Given the description of an element on the screen output the (x, y) to click on. 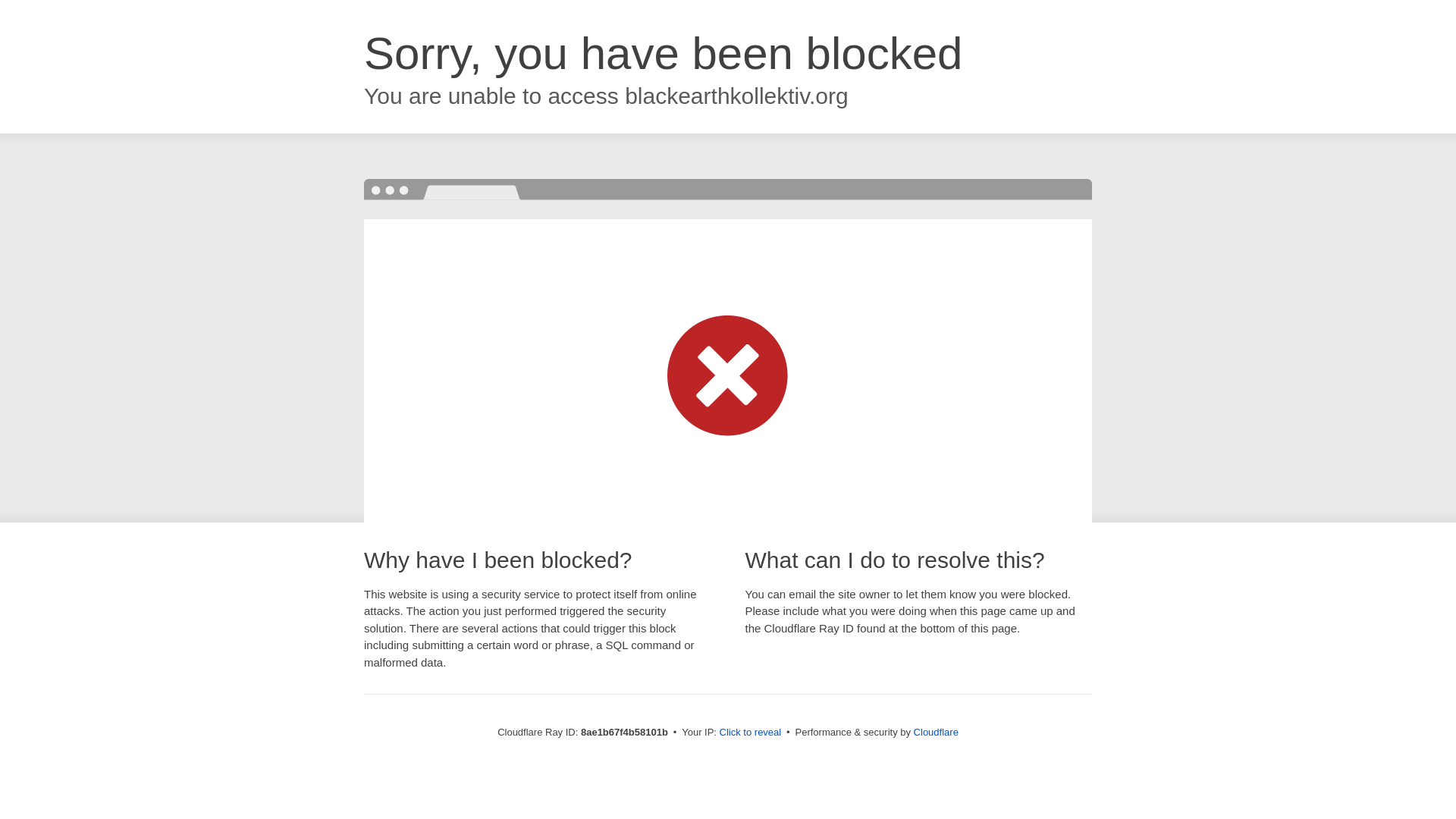
Click to reveal (750, 732)
Cloudflare (936, 731)
